Given the description of an element on the screen output the (x, y) to click on. 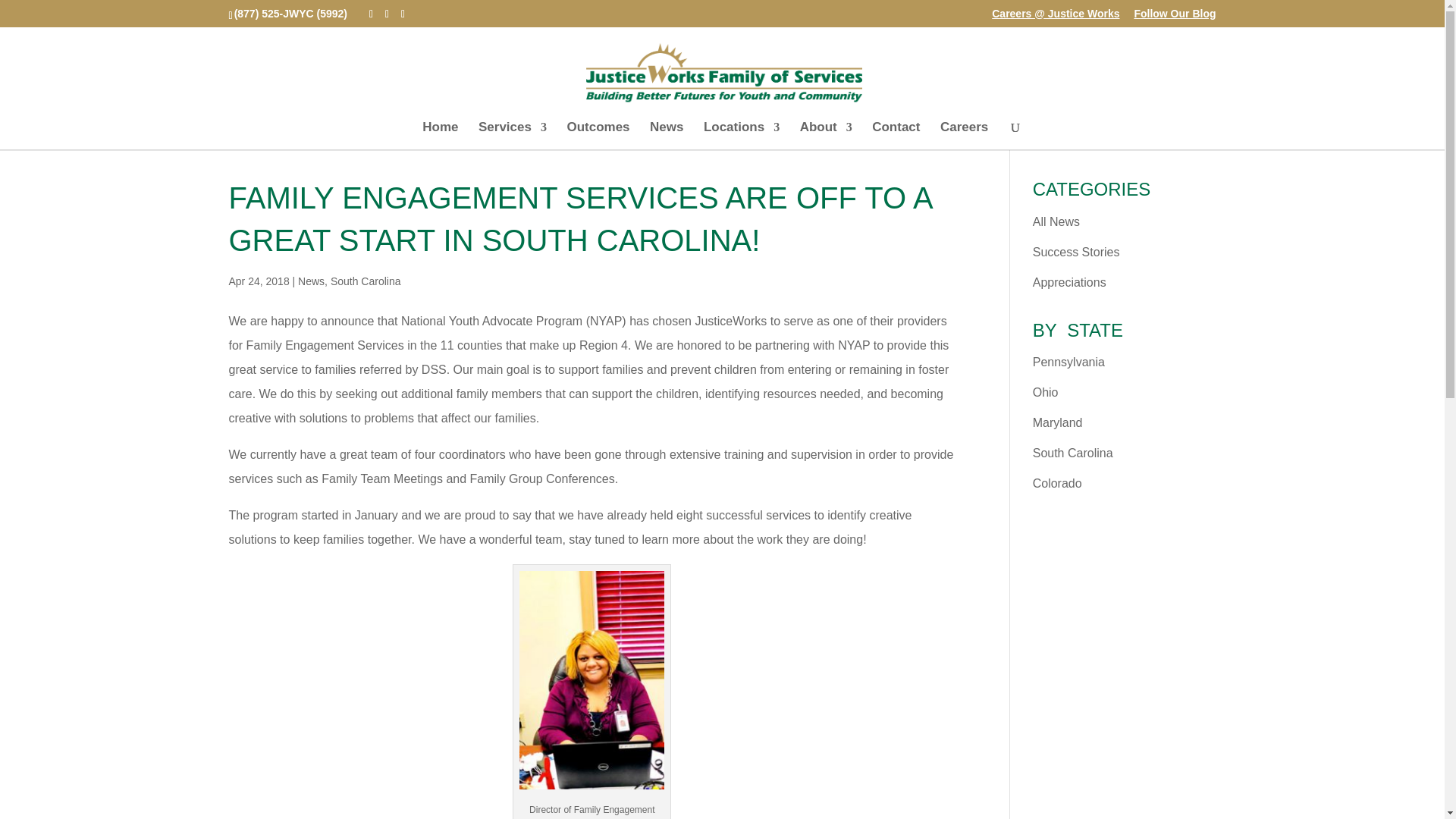
Outcomes (597, 135)
Services (513, 135)
Home (440, 135)
Follow Our Blog (1174, 16)
